Given the description of an element on the screen output the (x, y) to click on. 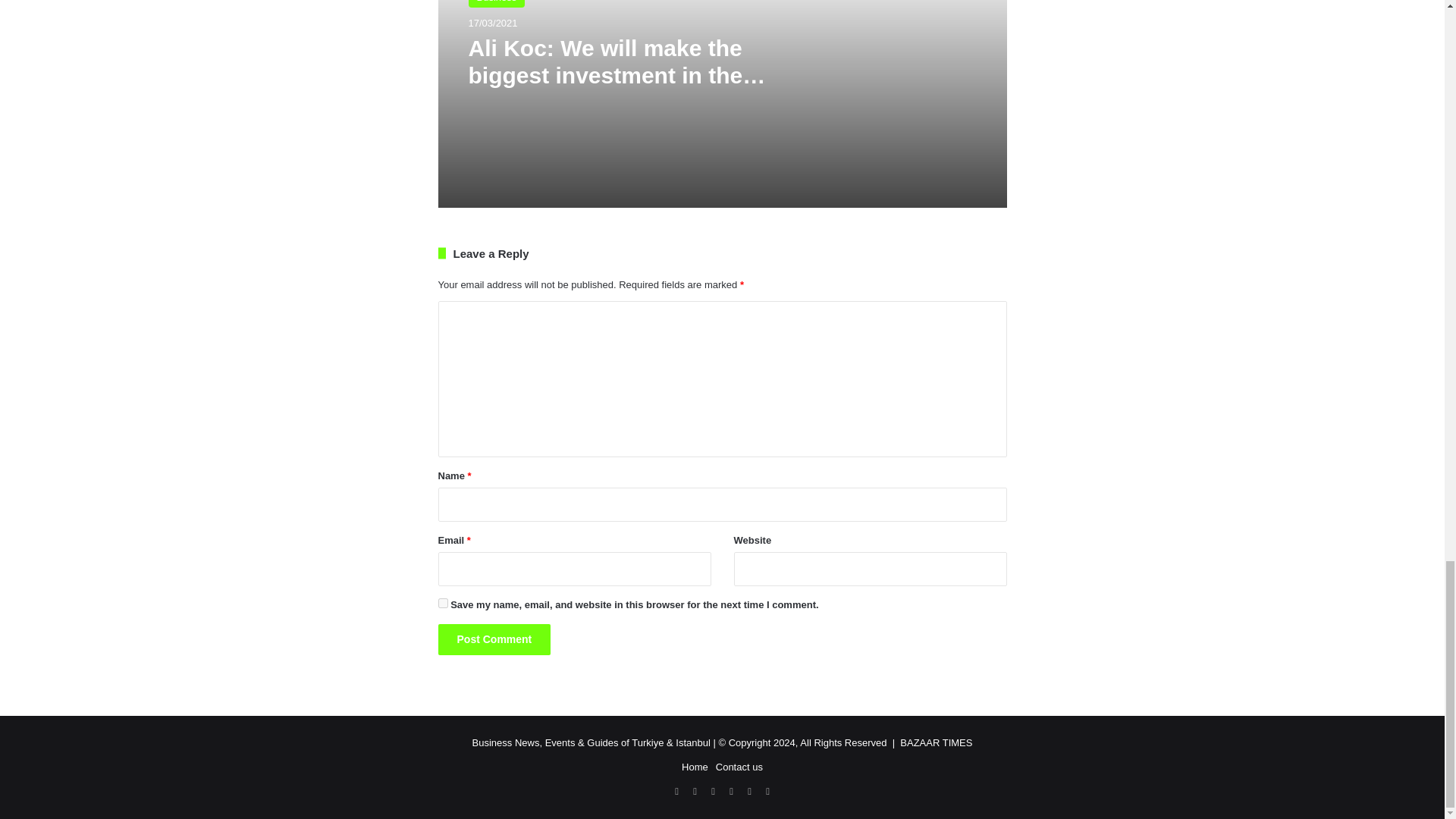
yes (443, 603)
Post Comment (494, 639)
